Given the description of an element on the screen output the (x, y) to click on. 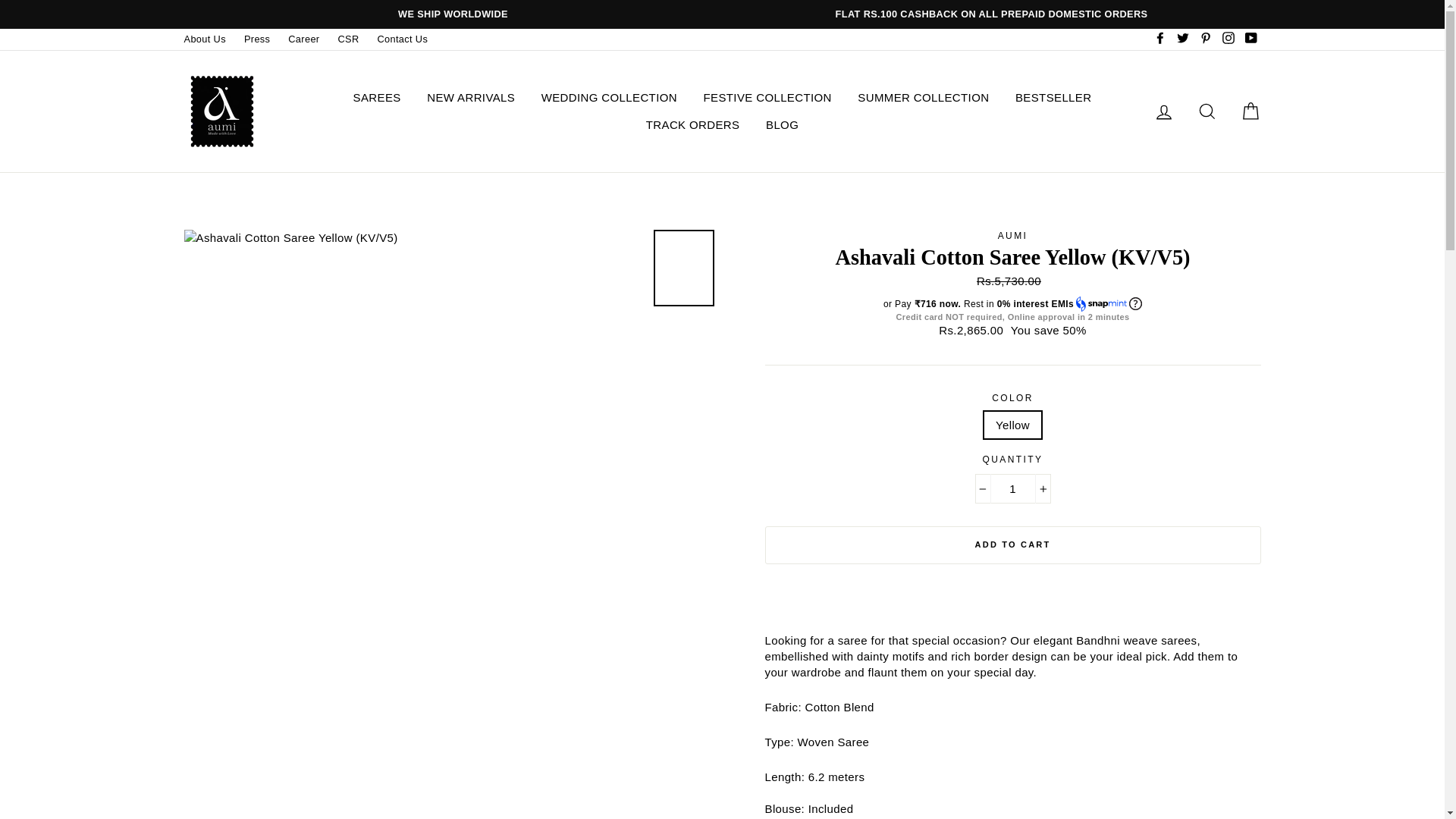
1 (1013, 488)
Aura Studio India on Instagram (1228, 38)
Aura Studio India on Facebook (1160, 38)
Aura Studio India on Pinterest (1205, 38)
Aura Studio India on YouTube (1250, 38)
About Us (204, 38)
Aura Studio India on Twitter (1182, 38)
